Given the description of an element on the screen output the (x, y) to click on. 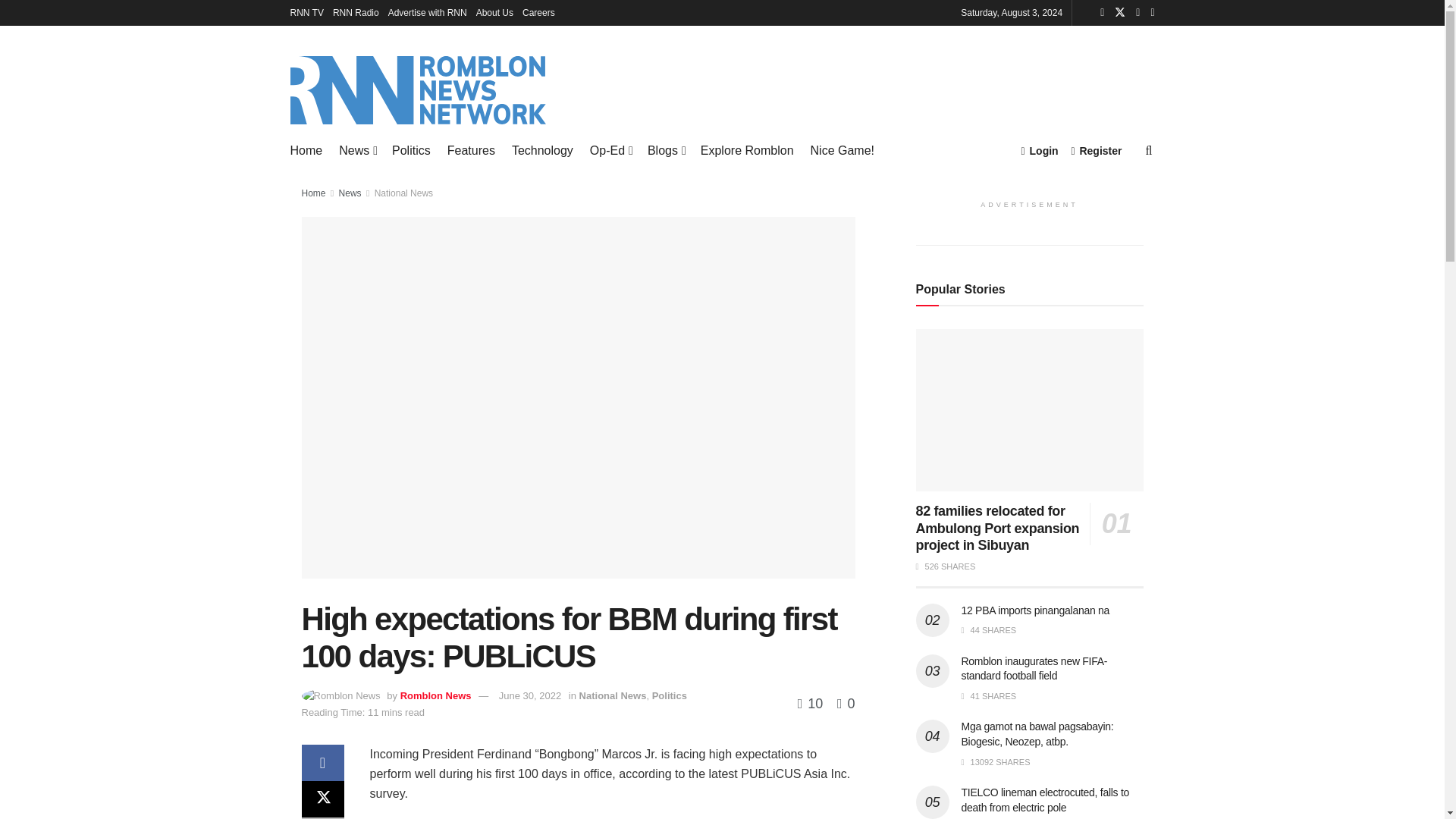
RNN TV (306, 12)
Politics (410, 150)
About Us (494, 12)
Technology (542, 150)
Features (470, 150)
Careers (538, 12)
Home (305, 150)
Op-Ed (609, 150)
News (357, 150)
Advertise with RNN (427, 12)
RNN Radio (355, 12)
